Given the description of an element on the screen output the (x, y) to click on. 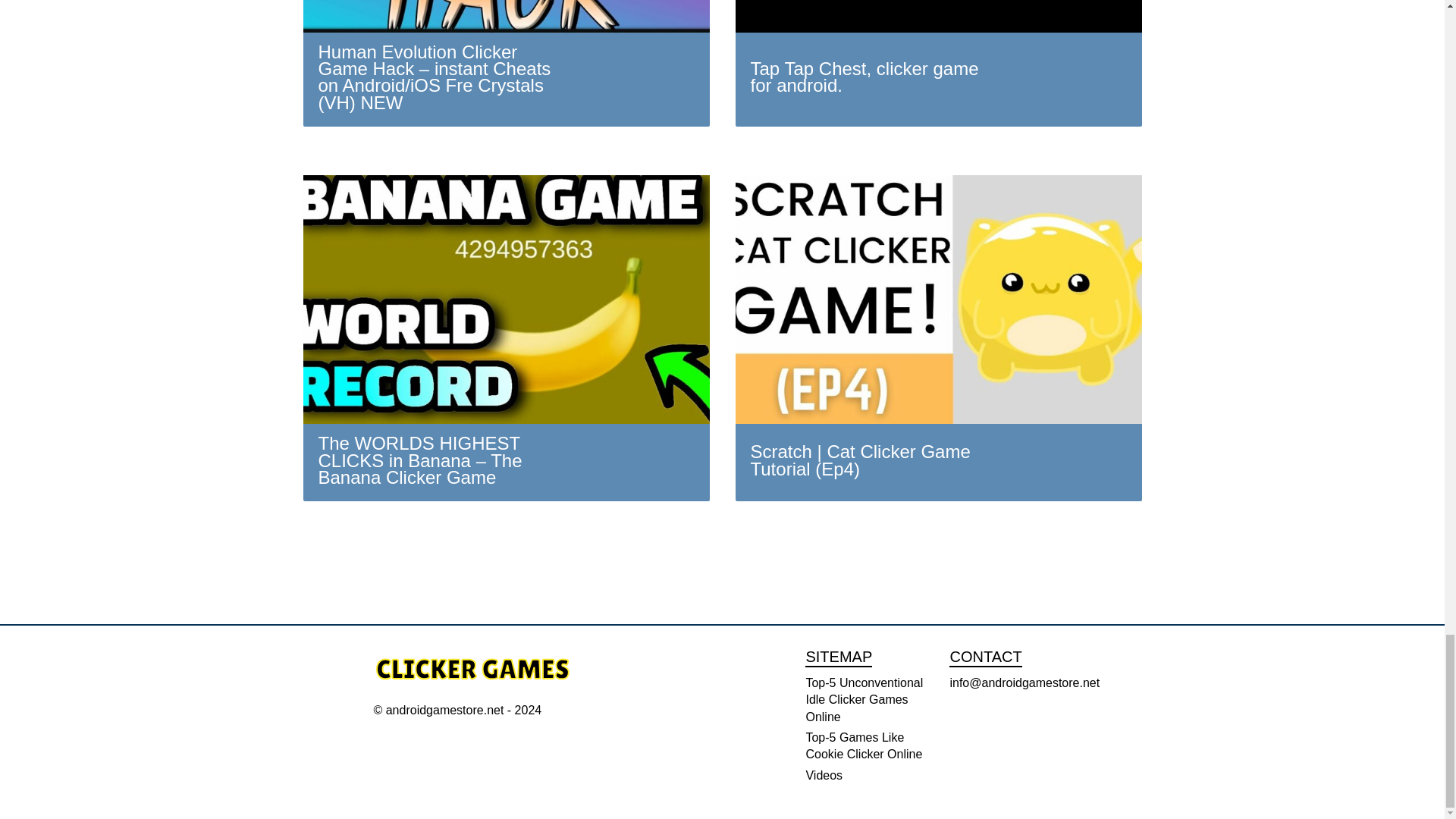
Top-5 Games Like Cookie Clicker Online (863, 745)
Videos (824, 775)
Top-5 Unconventional Idle Clicker Games Online (864, 699)
Tap Tap Chest, clicker game for android. (938, 63)
